Given the description of an element on the screen output the (x, y) to click on. 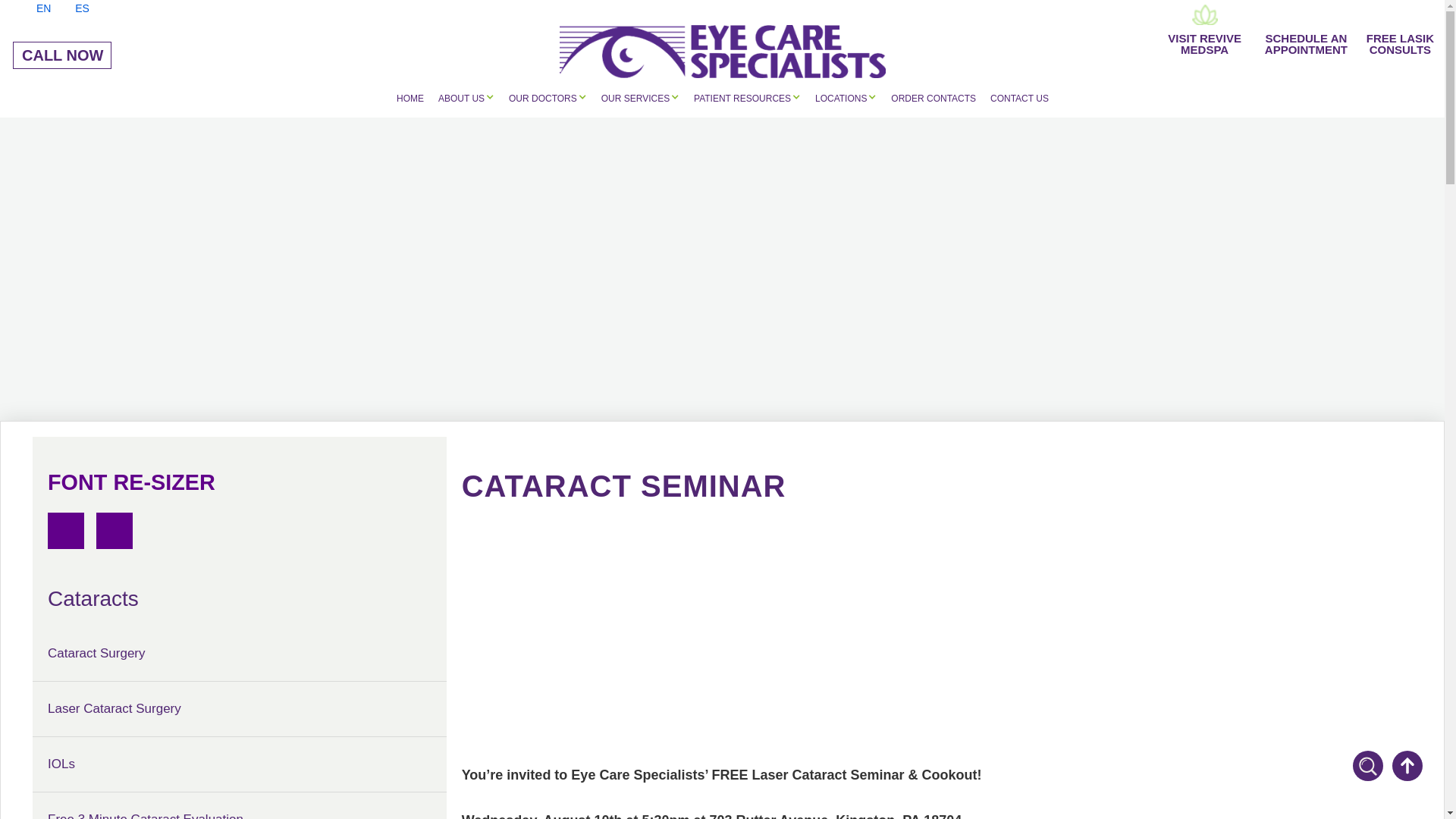
CALL NOW (62, 54)
Spanish (1204, 30)
EN (70, 8)
About Us (32, 8)
HOME (465, 97)
Visit Revive MedSpa (409, 98)
OUR DOCTORS (1204, 30)
Search efter: (547, 97)
English (1252, 766)
